Given the description of an element on the screen output the (x, y) to click on. 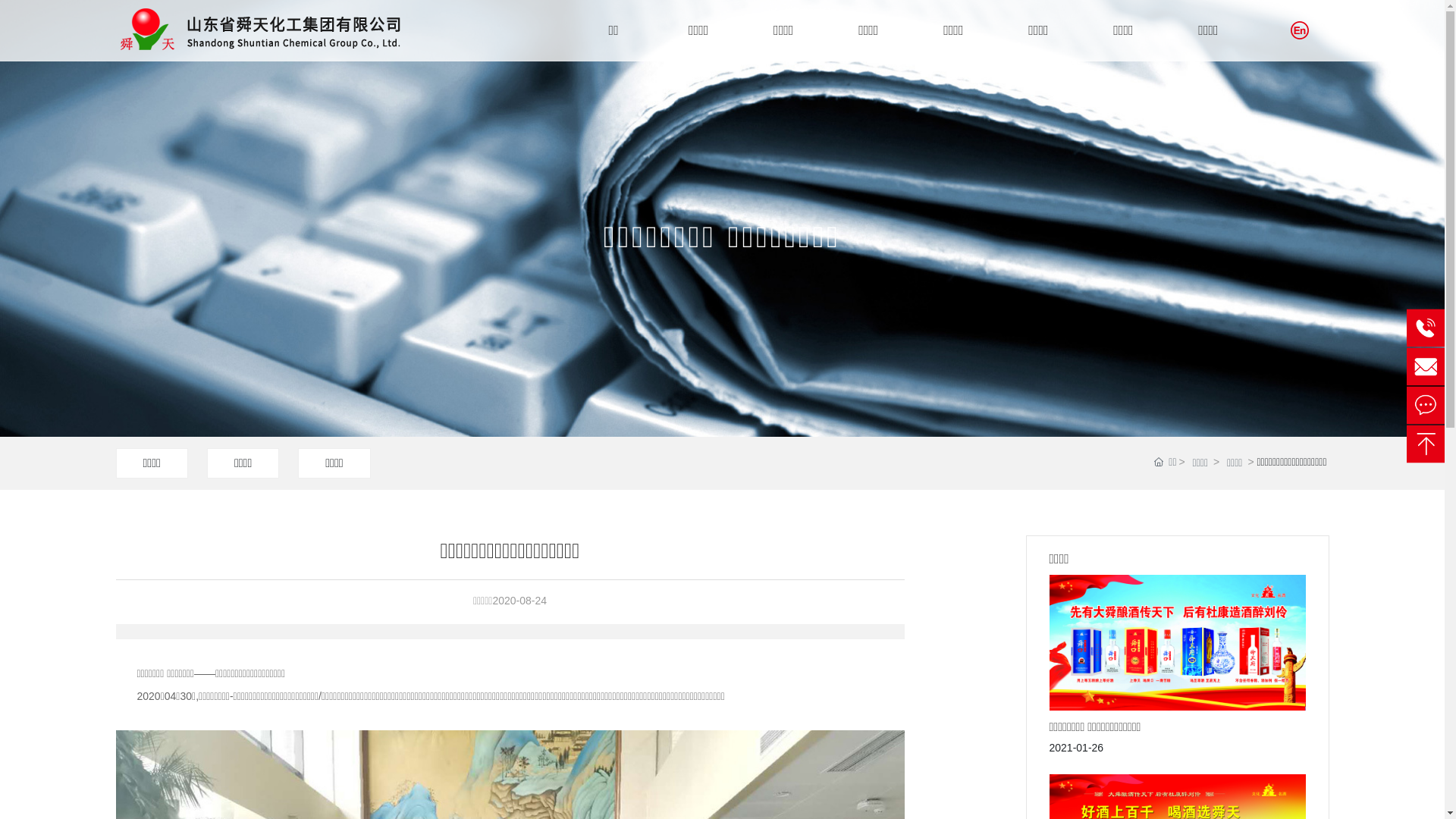
English Element type: hover (1299, 30)
